Given the description of an element on the screen output the (x, y) to click on. 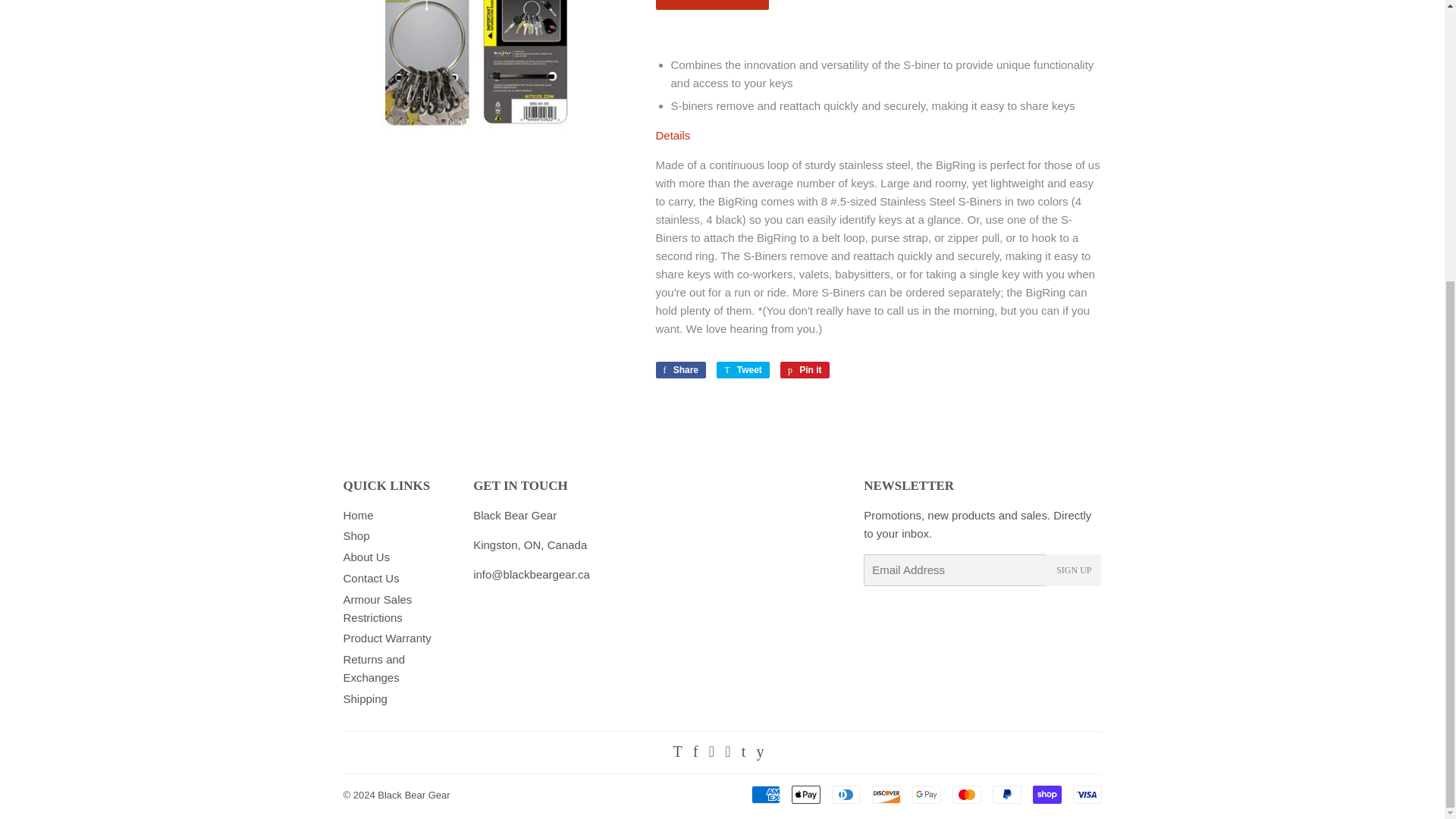
Black Bear Gear on Tumblr (743, 752)
Black Bear Gear on Instagram (727, 752)
Visa (1085, 794)
Black Bear Gear on Google (711, 752)
Home (357, 514)
Google Pay (925, 794)
PayPal (1005, 794)
Shop Pay (1046, 794)
American Express (764, 794)
Details (672, 134)
Pin on Pinterest (680, 369)
Black Bear Gear on Twitter (804, 369)
Mastercard (743, 369)
